Given the description of an element on the screen output the (x, y) to click on. 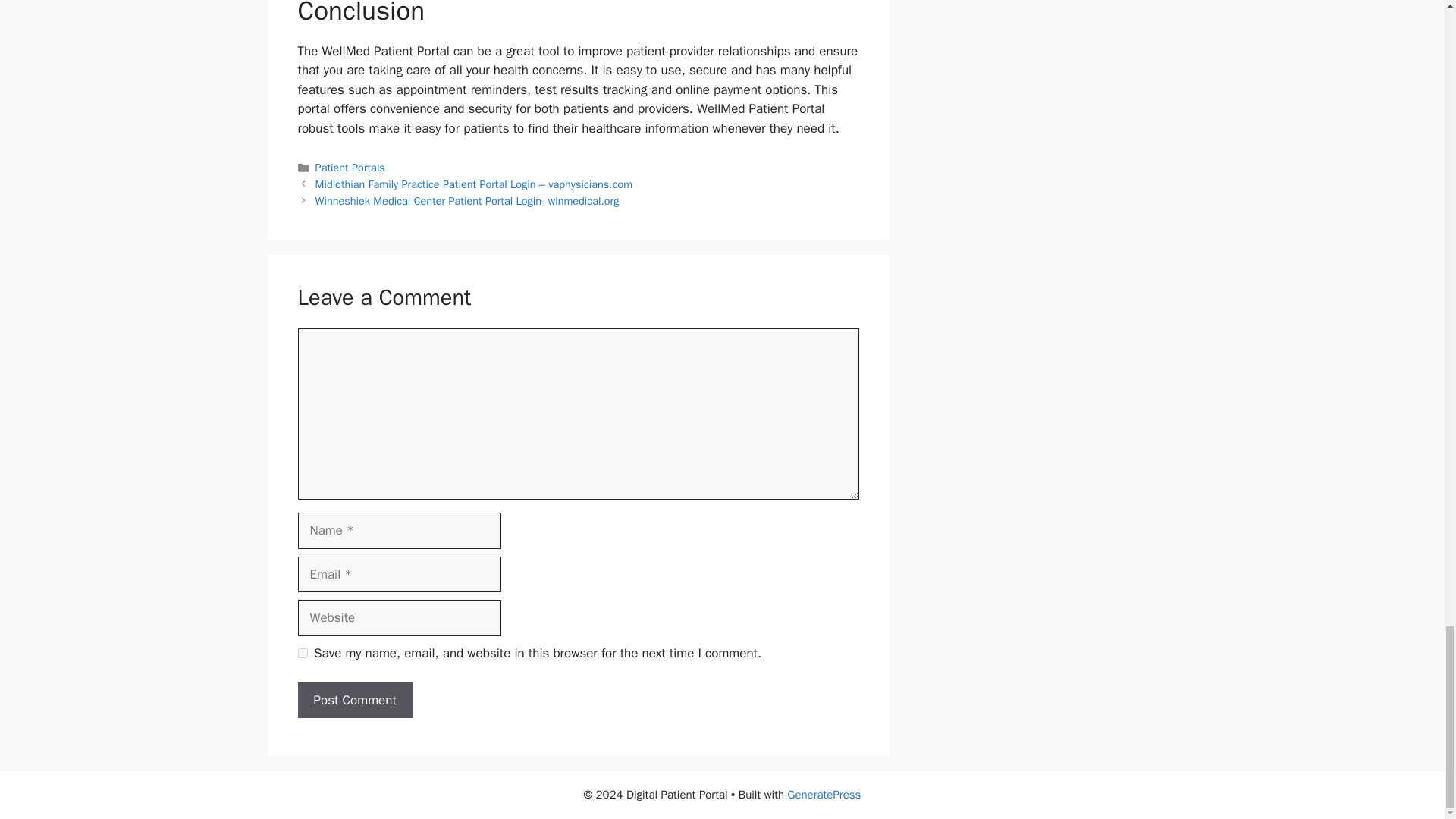
Post Comment (354, 700)
Next (467, 201)
Previous (474, 183)
Patient Portals (350, 167)
yes (302, 653)
Post Comment (354, 700)
